Given the description of an element on the screen output the (x, y) to click on. 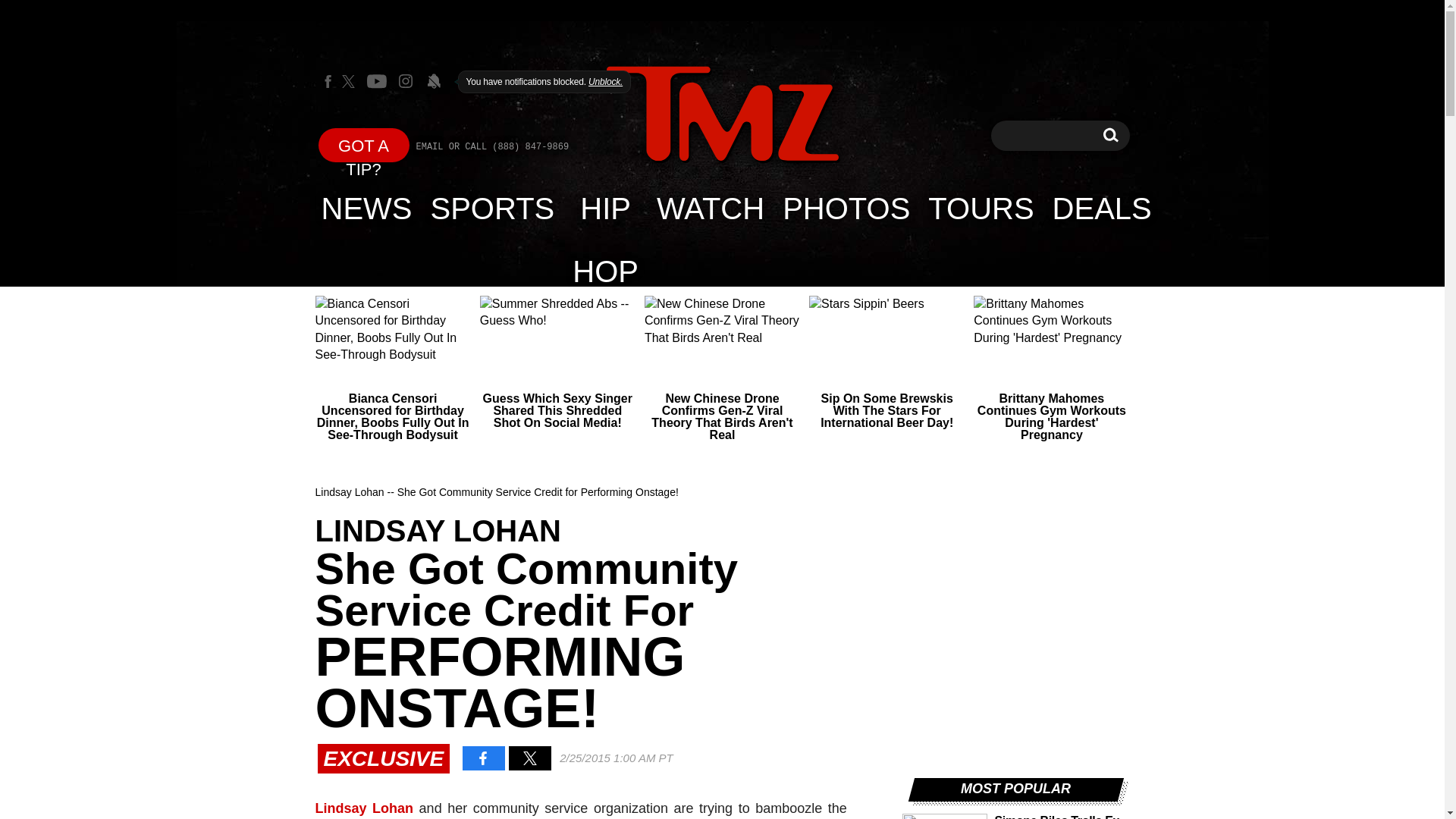
TOURS (980, 207)
TMZ (722, 113)
HIP HOP (605, 207)
TMZ (722, 115)
Search (1110, 134)
DEALS (1110, 135)
PHOTOS (1101, 207)
Skip to main content (845, 207)
SPORTS (710, 207)
GOT A TIP? (493, 207)
NEWS (363, 144)
